Given the description of an element on the screen output the (x, y) to click on. 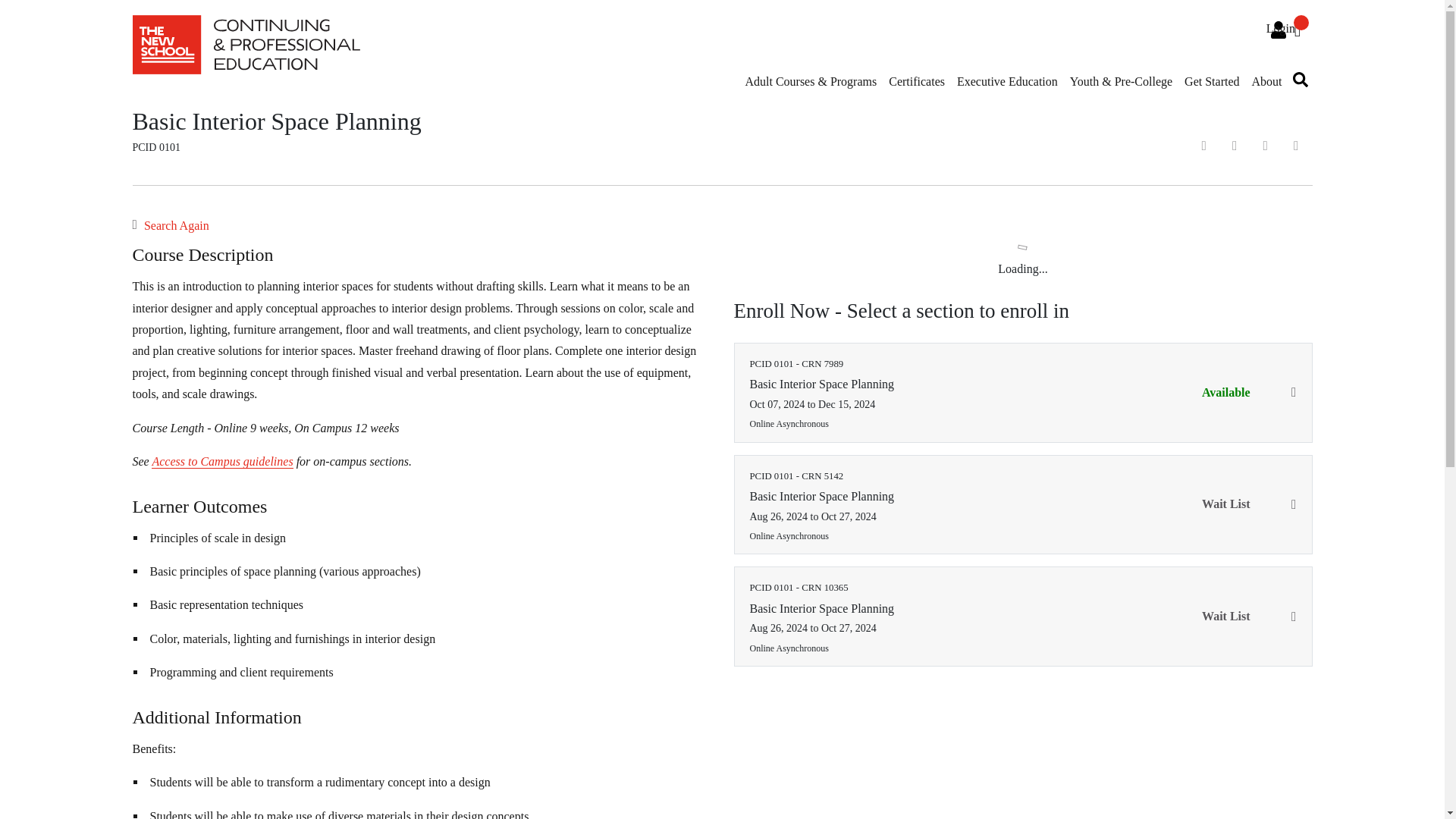
Course Inquiry (1265, 145)
Certificates (916, 89)
Print Version (1296, 145)
Executive Education (1007, 89)
Remind me of this course at a later date (1235, 145)
Email this information to yourself or a friend (1204, 145)
Login (1278, 30)
